Given the description of an element on the screen output the (x, y) to click on. 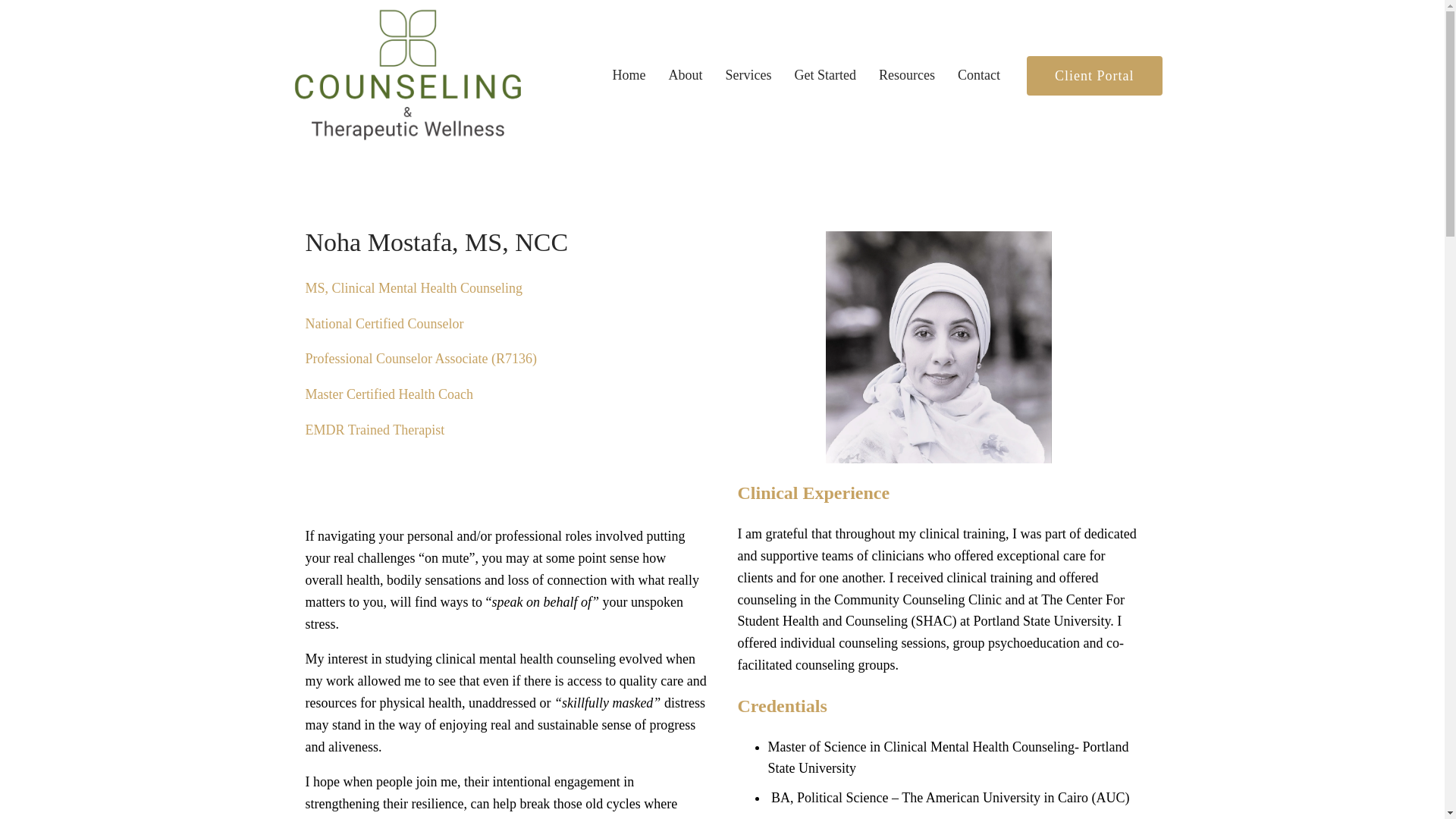
Resources (906, 75)
Contact (979, 75)
Services (748, 75)
Client Portal (1093, 75)
Get Started (825, 75)
Home (629, 75)
About (685, 75)
